Given the description of an element on the screen output the (x, y) to click on. 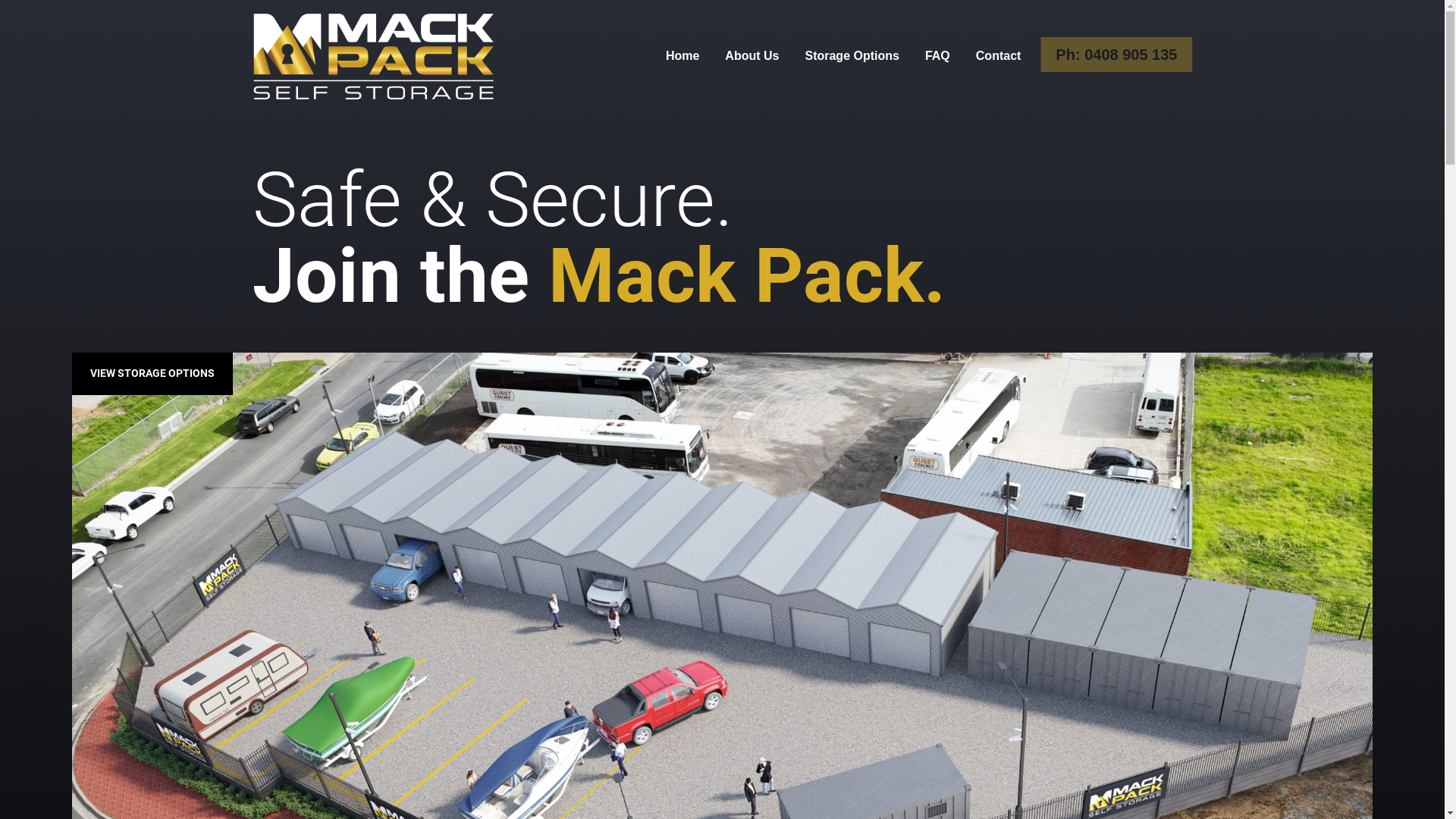
Contact Element type: text (998, 56)
VIEW STORAGE OPTIONS Element type: text (152, 373)
Storage Options Element type: text (851, 56)
FAQ Element type: text (937, 56)
Ph: 0408 905 135 Element type: text (1116, 54)
About Us Element type: text (751, 56)
Home Element type: text (682, 56)
